Given the description of an element on the screen output the (x, y) to click on. 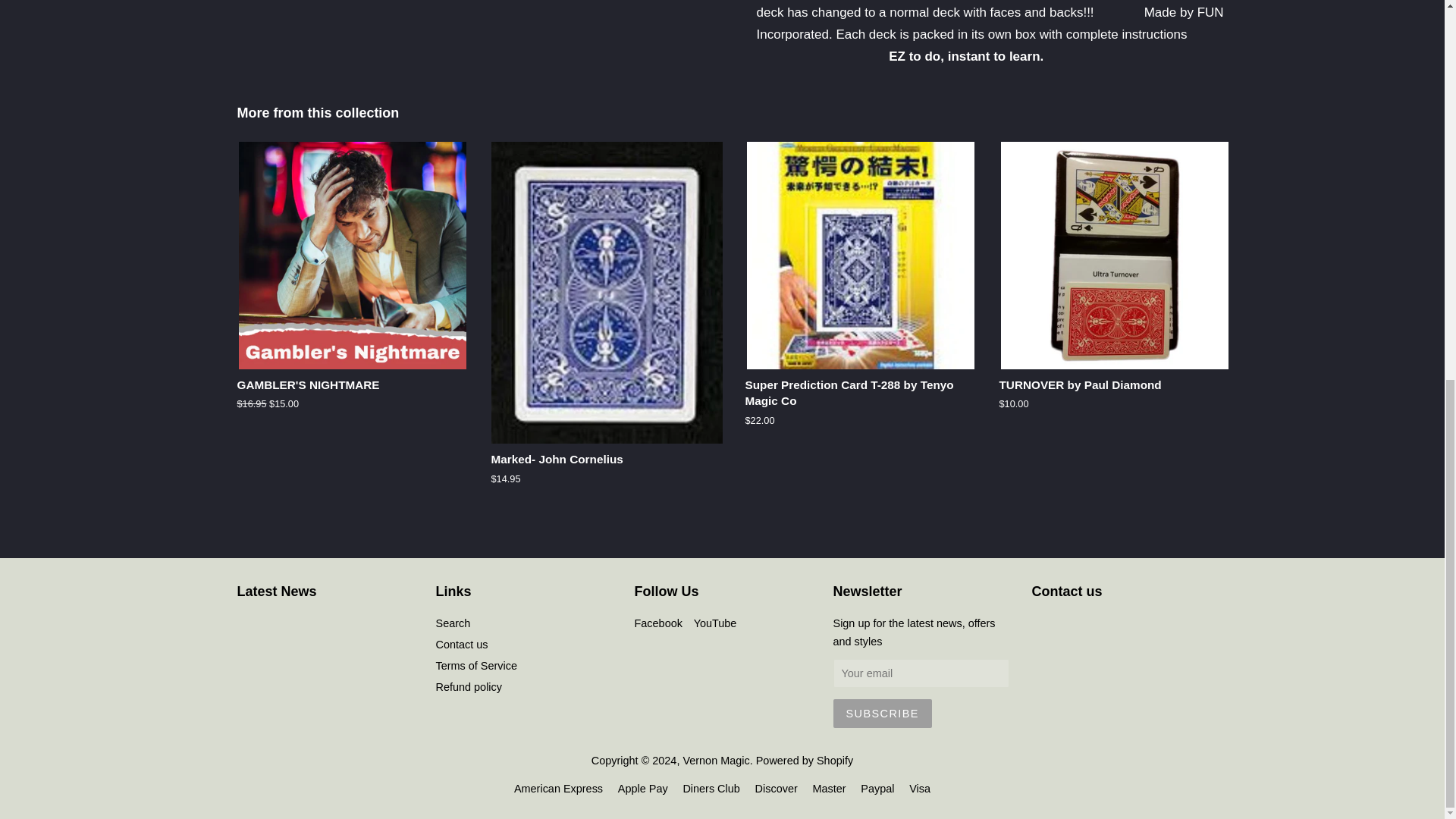
Search (452, 623)
Latest News (275, 590)
Subscribe (881, 713)
Vernon Magic on YouTube (715, 623)
Vernon Magic on Facebook (657, 623)
